Given the description of an element on the screen output the (x, y) to click on. 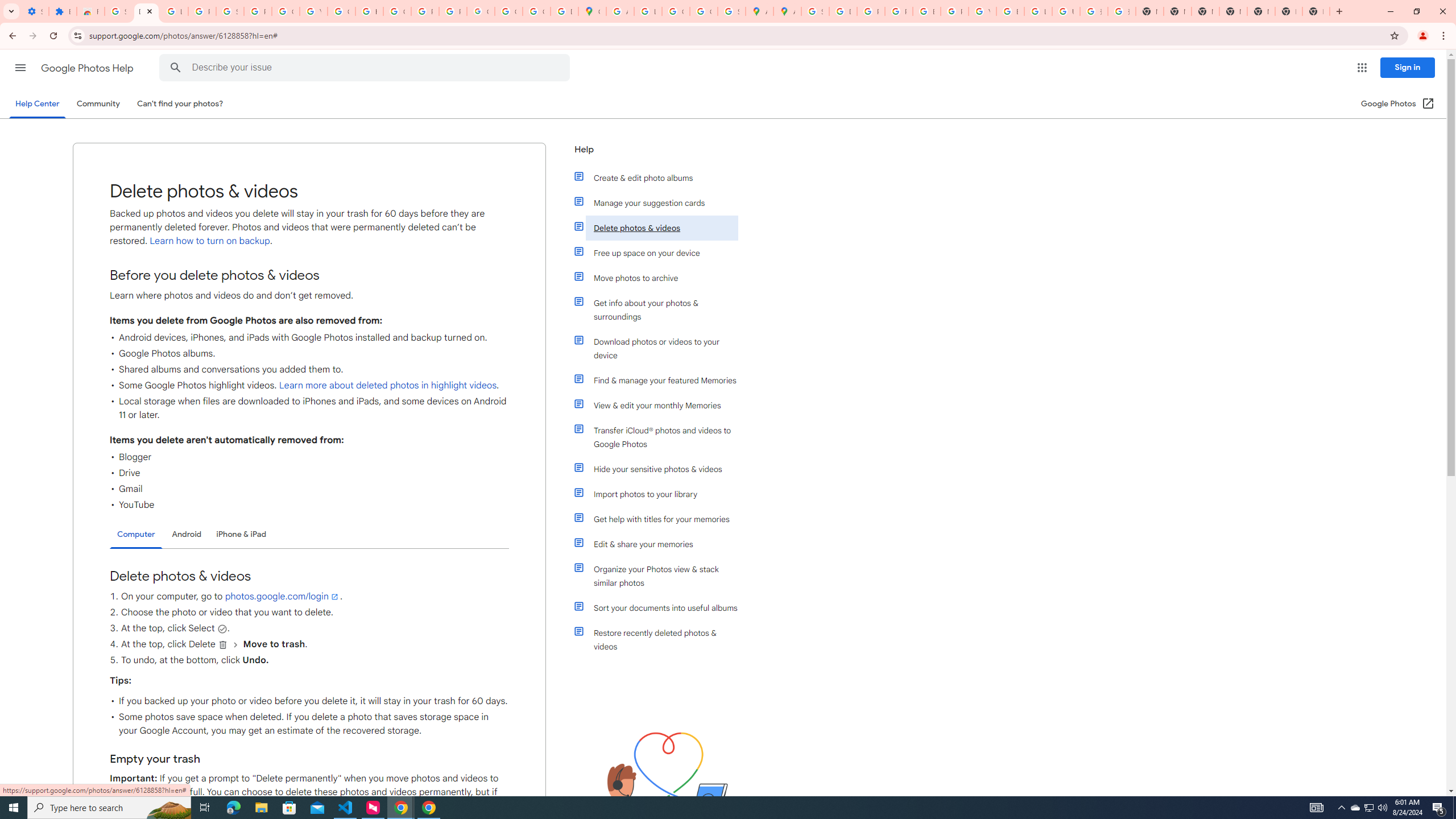
https://scholar.google.com/ (369, 11)
Sign in - Google Accounts (118, 11)
Privacy Help Center - Policies Help (898, 11)
Move photos to archive (661, 277)
YouTube (982, 11)
Privacy Help Center - Policies Help (870, 11)
Google Photos (Open in a new window) (1397, 103)
YouTube (313, 11)
